Given the description of an element on the screen output the (x, y) to click on. 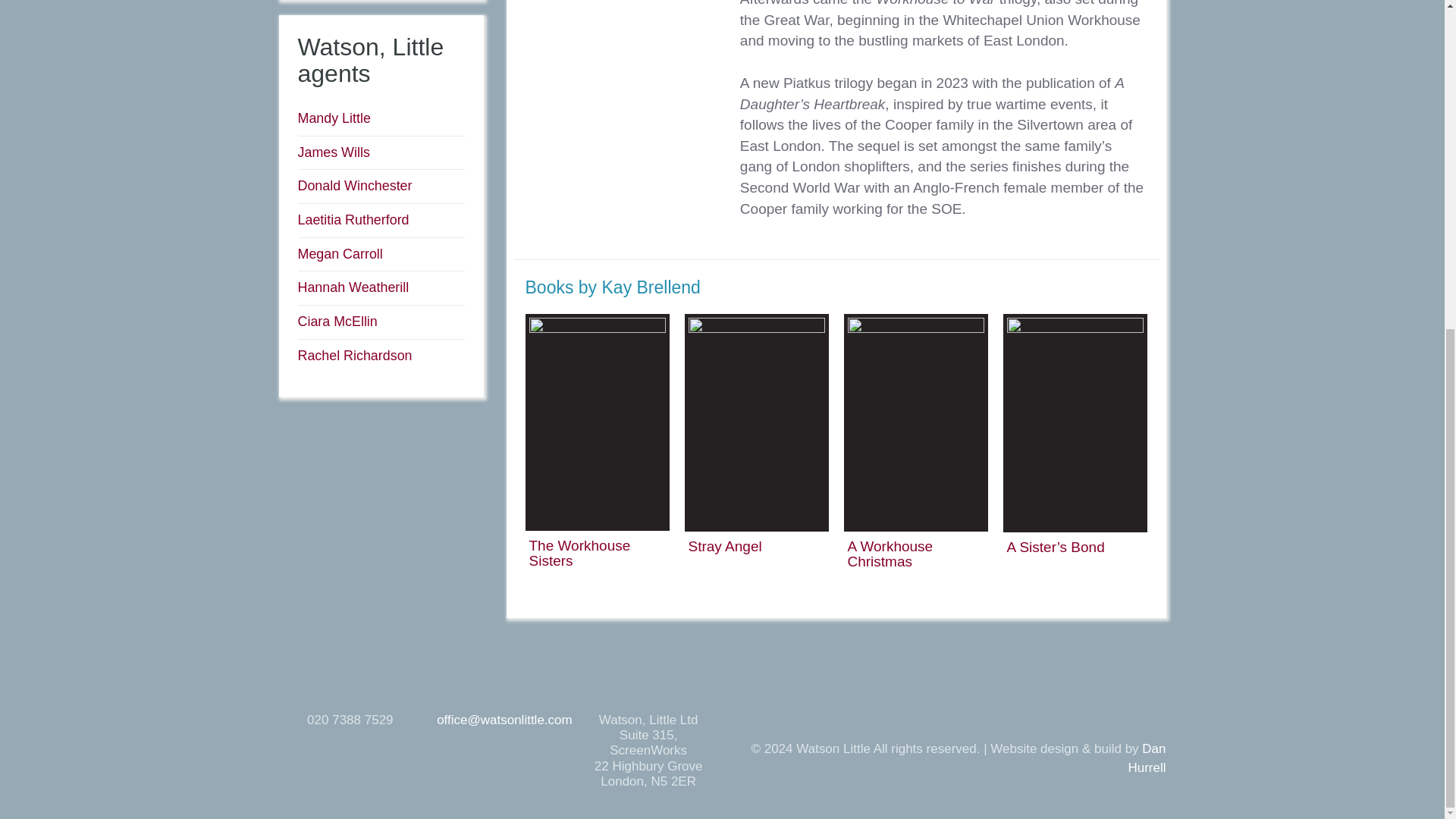
Laetitia Rutherford (353, 219)
Hannah Weatherill (353, 287)
A Workhouse Christmas (890, 553)
James Wills (333, 151)
Rachel Richardson (354, 355)
The Workhouse Sisters (579, 552)
Stray Angel (724, 546)
A Workhouse Christmas (890, 553)
Stray Angel (724, 546)
Megan Carroll (339, 253)
